Given the description of an element on the screen output the (x, y) to click on. 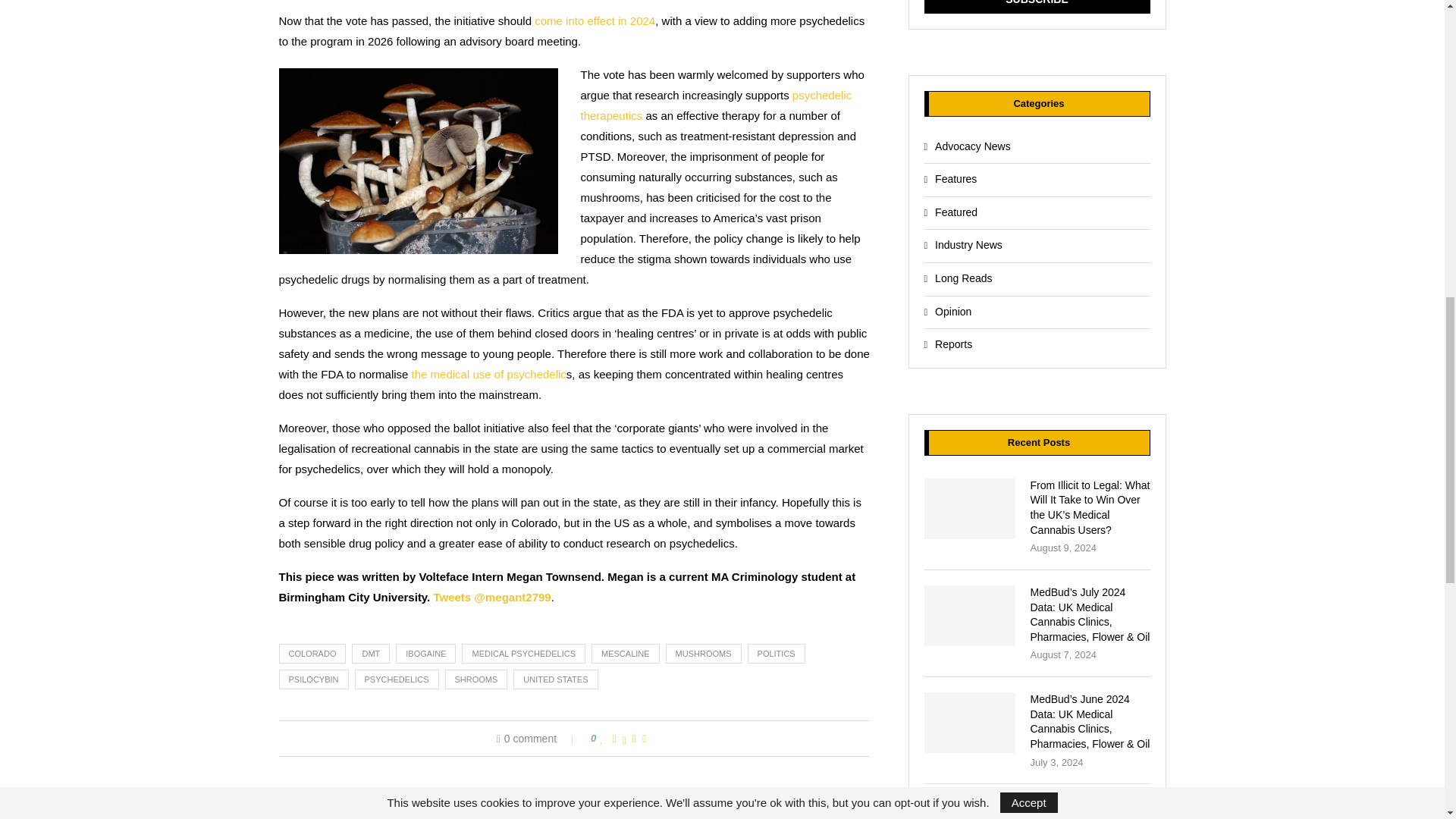
Author Megan Townsend (421, 792)
IBOGAINE (425, 653)
MUSHROOMS (703, 653)
POLITICS (776, 653)
PSILOCYBIN (314, 679)
come into effect in 2024 (594, 20)
the medical use of psychedelic (489, 373)
MEDICAL PSYCHEDELICS (523, 653)
DMT (371, 653)
COLORADO (312, 653)
